Given the description of an element on the screen output the (x, y) to click on. 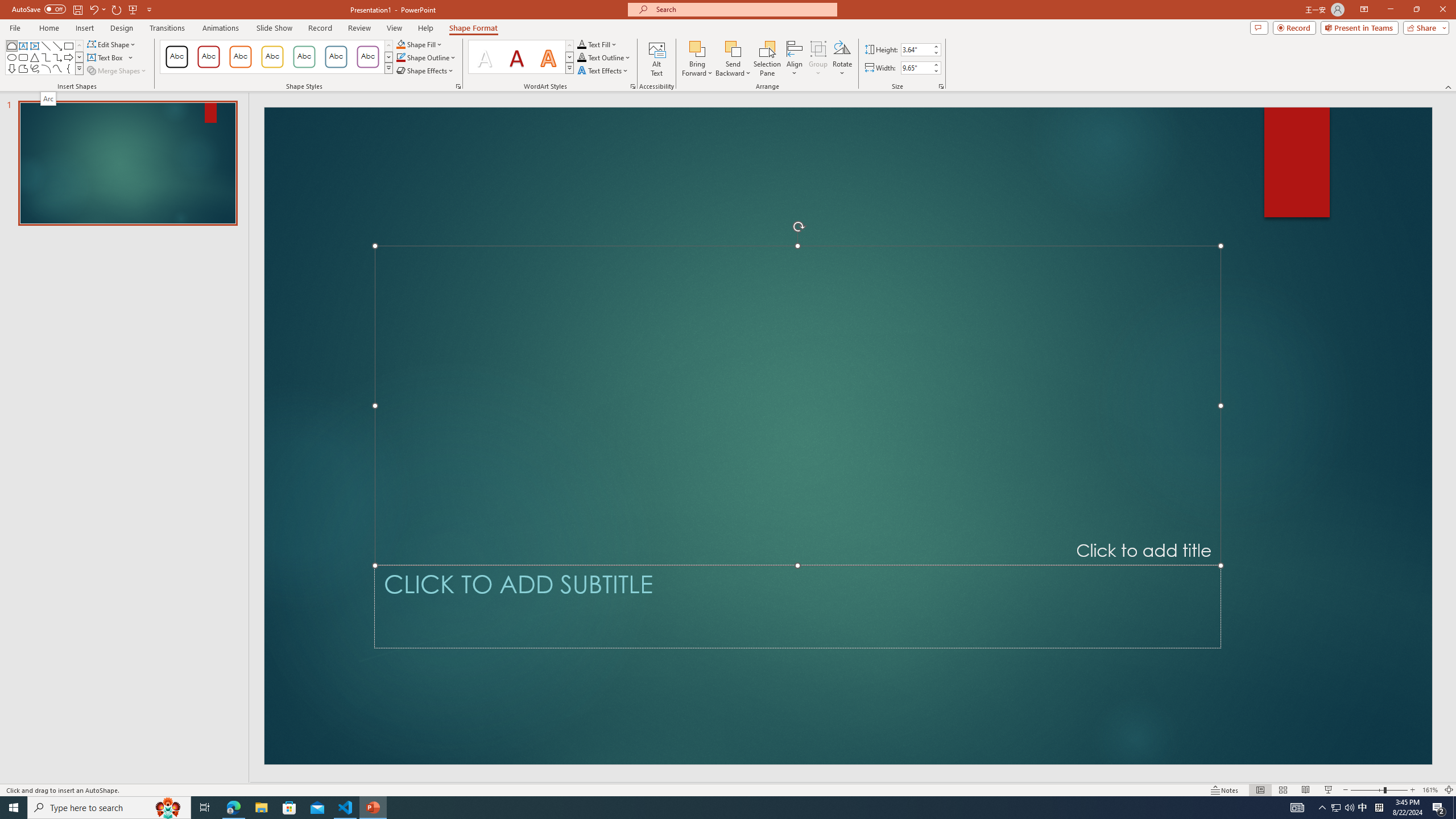
Colored Outline - Blue-Gray, Accent 5 (336, 56)
Text Fill RGB(0, 0, 0) (581, 44)
Align (794, 58)
Colored Outline - Purple, Accent 6 (368, 56)
AutomationID: TextStylesGallery (521, 56)
AutomationID: ShapeStylesGallery (276, 56)
